Given the description of an element on the screen output the (x, y) to click on. 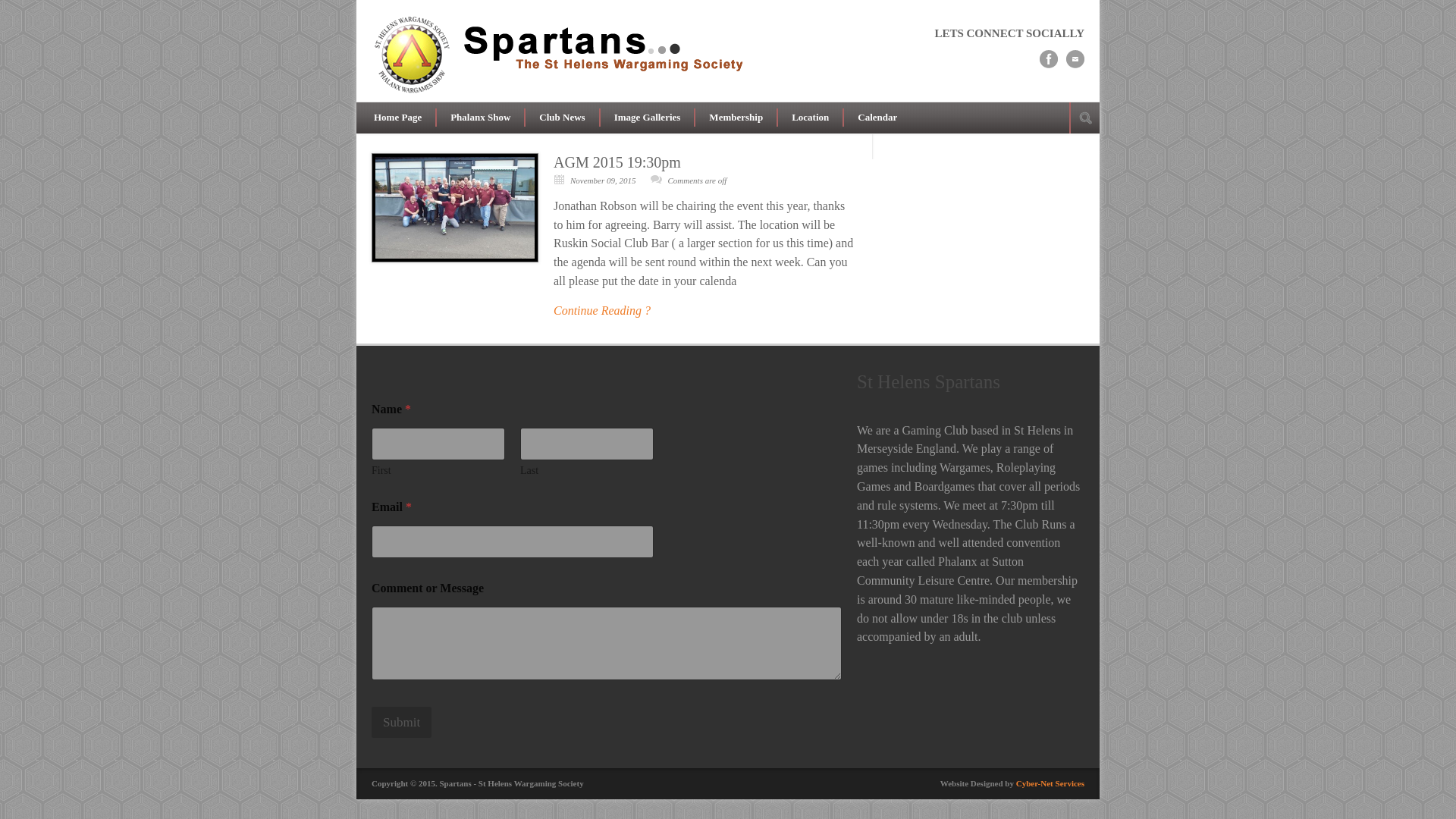
Phalanx Show (479, 117)
Home Page (397, 117)
Club News (561, 117)
